Given the description of an element on the screen output the (x, y) to click on. 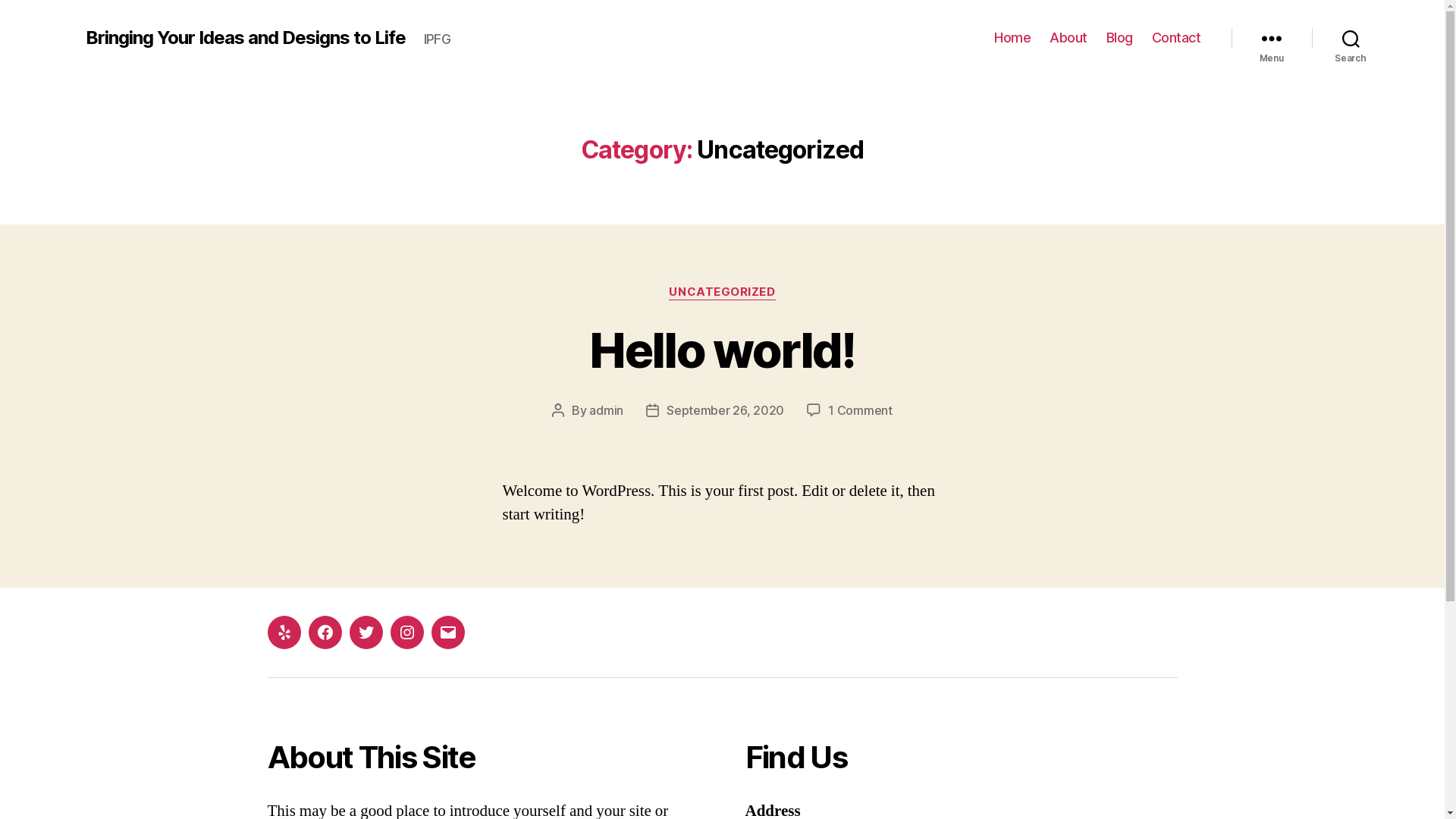
Yelp Element type: text (283, 632)
Menu Element type: text (1271, 37)
1 Comment
on Hello world! Element type: text (860, 409)
Blog Element type: text (1119, 37)
September 26, 2020 Element type: text (725, 409)
Bringing Your Ideas and Designs to Life Element type: text (244, 37)
Search Element type: text (1350, 37)
Hello world! Element type: text (721, 349)
admin Element type: text (606, 409)
About Element type: text (1068, 37)
Facebook Element type: text (324, 632)
Contact Element type: text (1176, 37)
Twitter Element type: text (365, 632)
Email Element type: text (447, 632)
Instagram Element type: text (406, 632)
Home Element type: text (1012, 37)
UNCATEGORIZED Element type: text (721, 292)
